Given the description of an element on the screen output the (x, y) to click on. 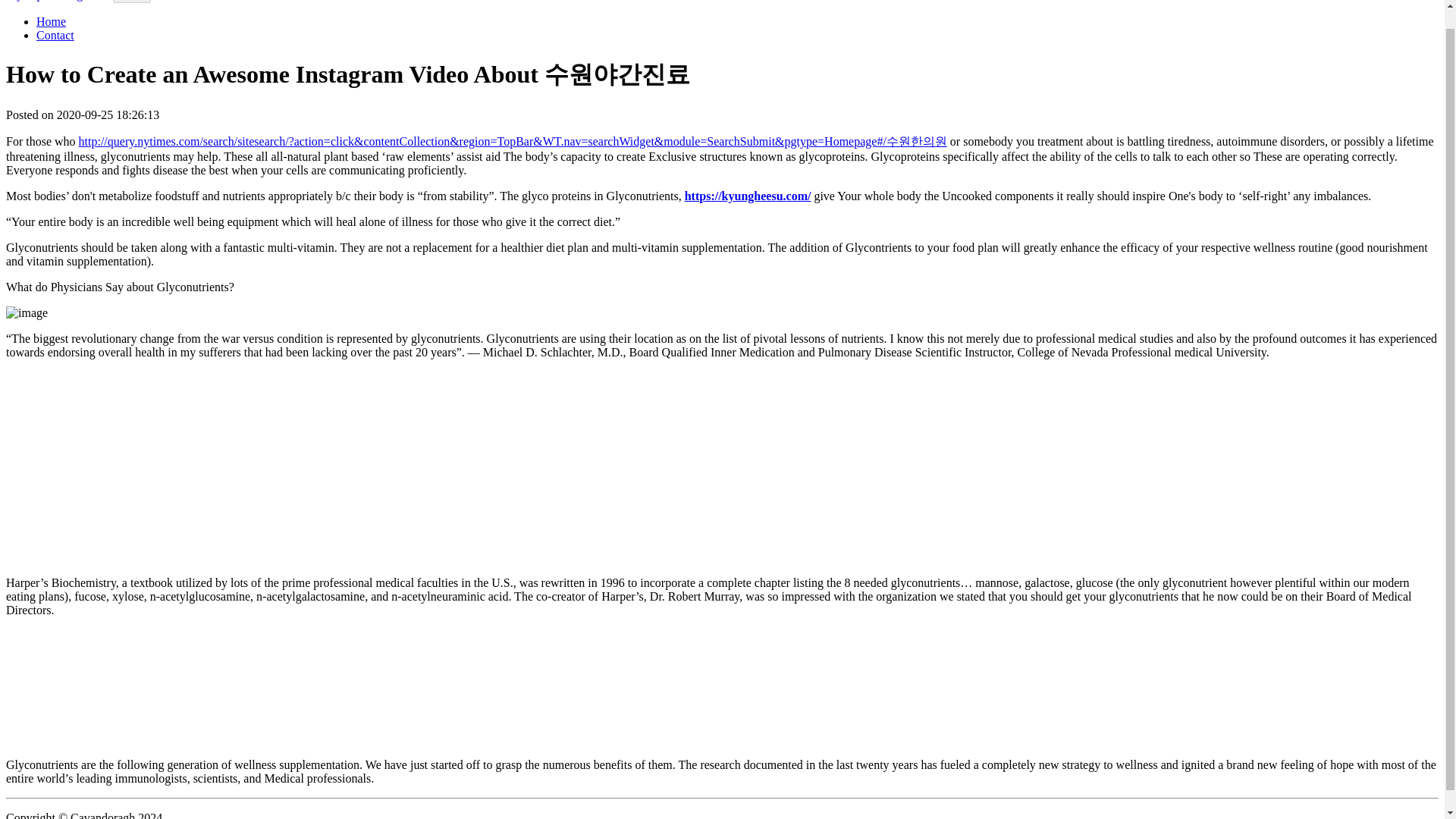
Menu (131, 1)
Home (50, 21)
Contact (55, 34)
